Given the description of an element on the screen output the (x, y) to click on. 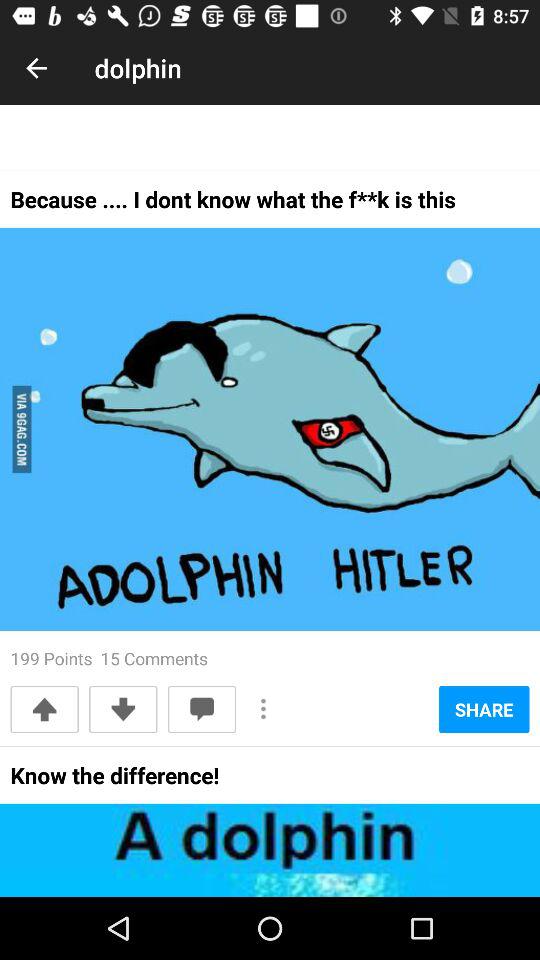
choose icon below 199 points 	15 icon (123, 709)
